Given the description of an element on the screen output the (x, y) to click on. 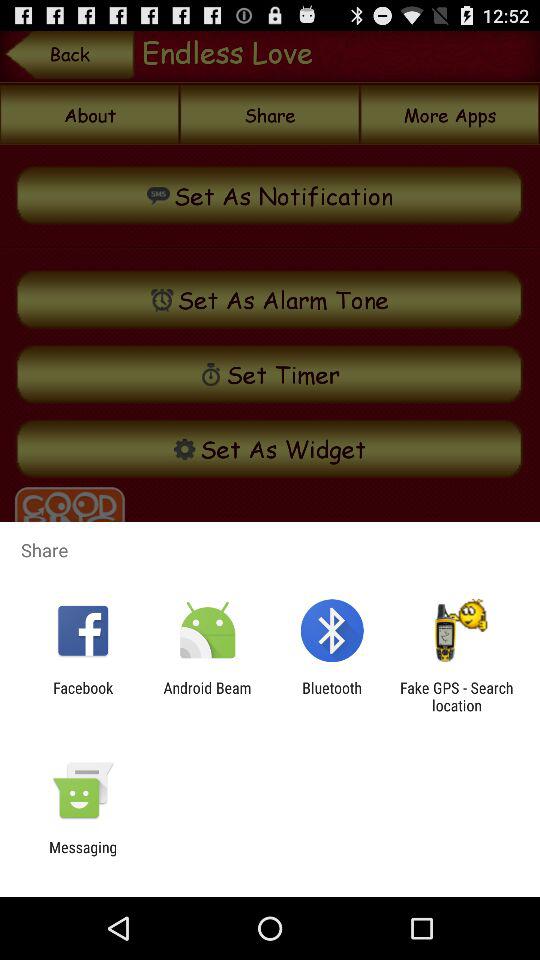
choose app next to bluetooth (456, 696)
